Given the description of an element on the screen output the (x, y) to click on. 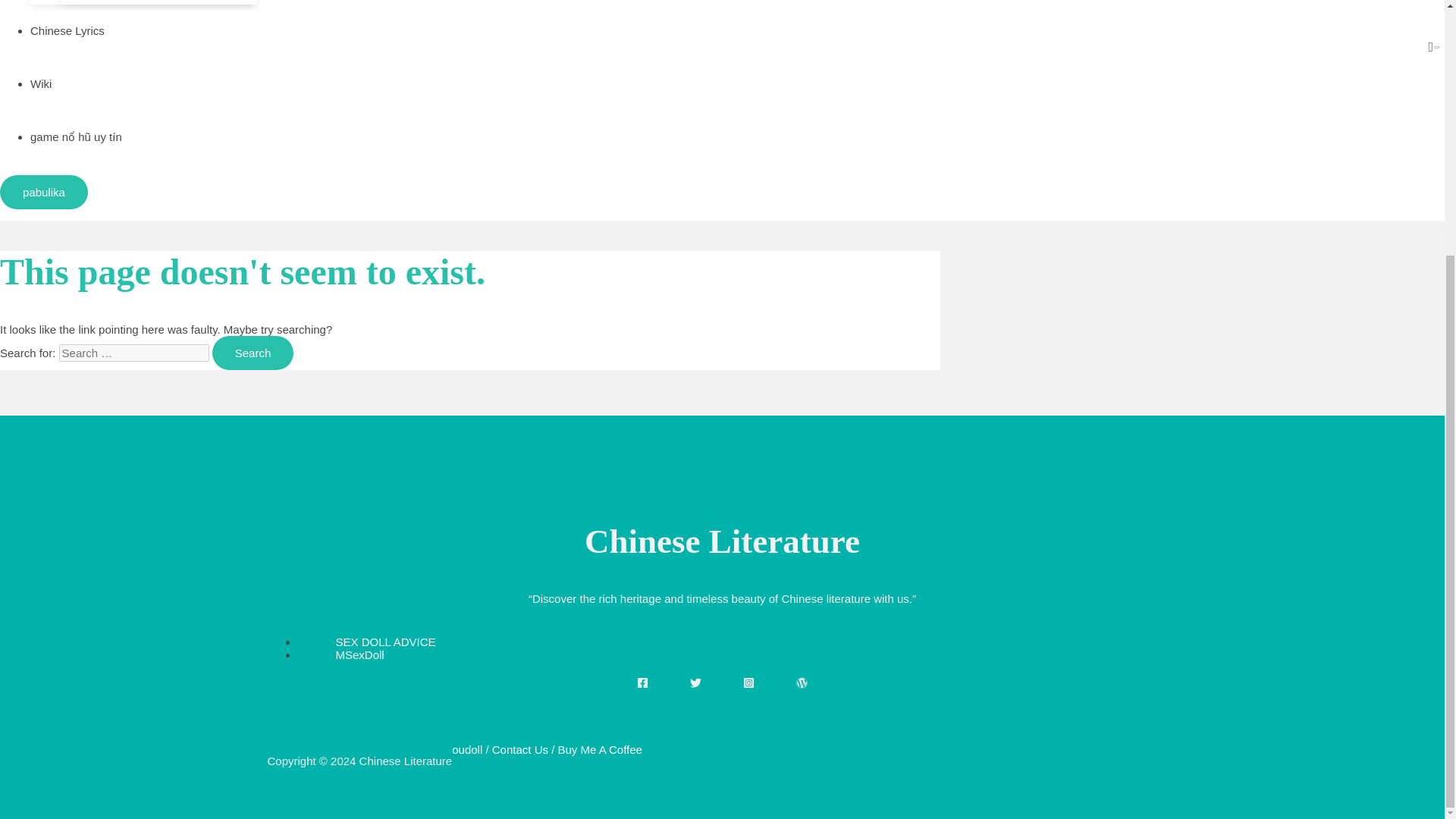
MSexDoll (359, 654)
Contact Us (520, 748)
pabulika (43, 192)
Search (253, 352)
oudoll (466, 748)
SEX DOLL ADVICE (385, 641)
Search (253, 352)
Wiki (40, 83)
Chinese Lyrics (67, 30)
Search (253, 352)
